Given the description of an element on the screen output the (x, y) to click on. 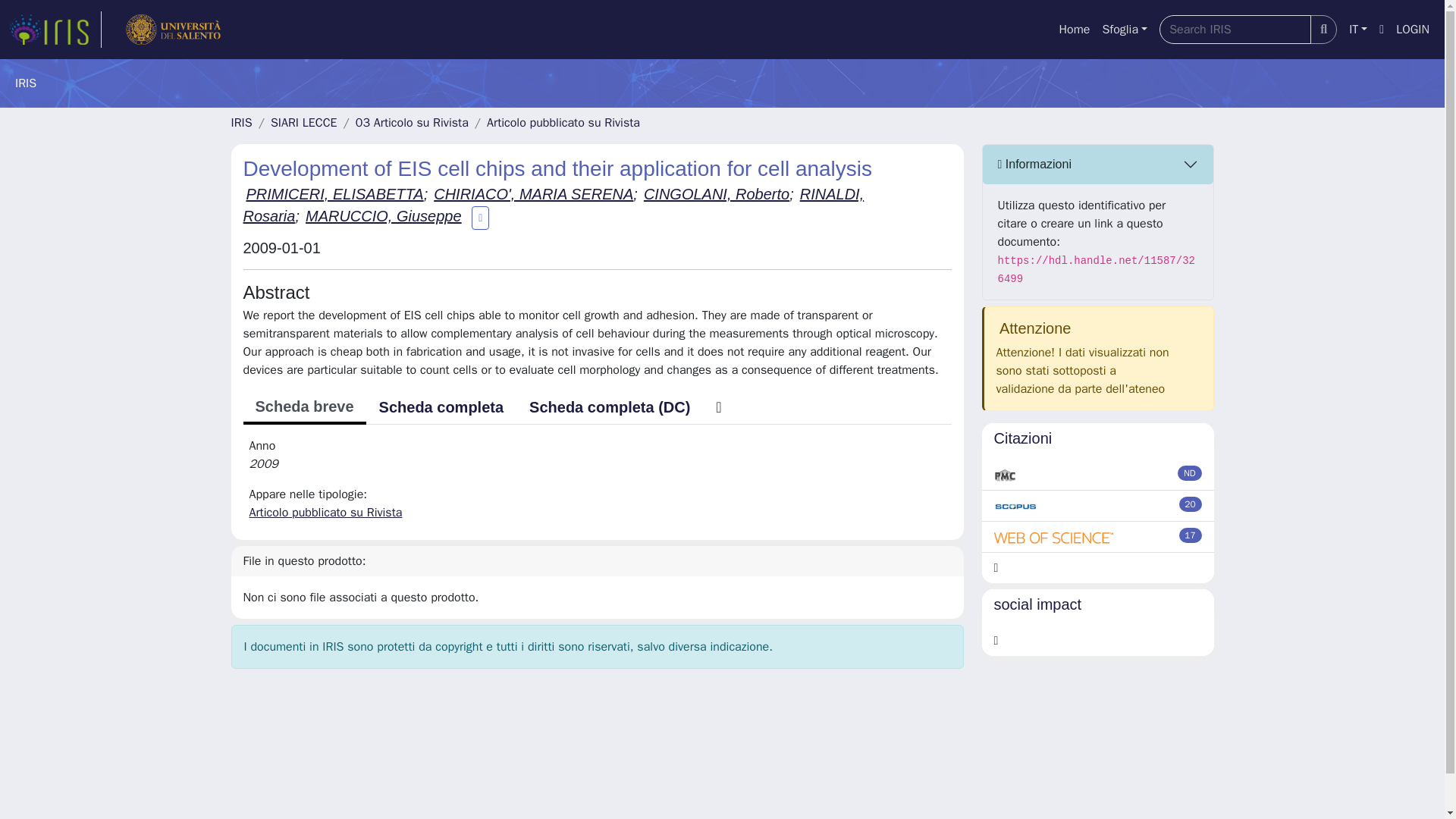
CINGOLANI, Roberto (716, 193)
Scheda breve (304, 408)
MARUCCIO, Giuseppe (383, 216)
CHIRIACO', MARIA SERENA (533, 193)
Articolo pubblicato su Rivista (563, 122)
Home (1074, 29)
 Informazioni (1097, 164)
aggiornato in data 17-07-2024 17:52 (1190, 503)
Scheda completa (441, 407)
RINALDI, Rosaria (553, 205)
PRIMICERI, ELISABETTA (334, 193)
IT (1357, 29)
Articolo pubblicato su Rivista (324, 512)
LOGIN (1412, 29)
